Given the description of an element on the screen output the (x, y) to click on. 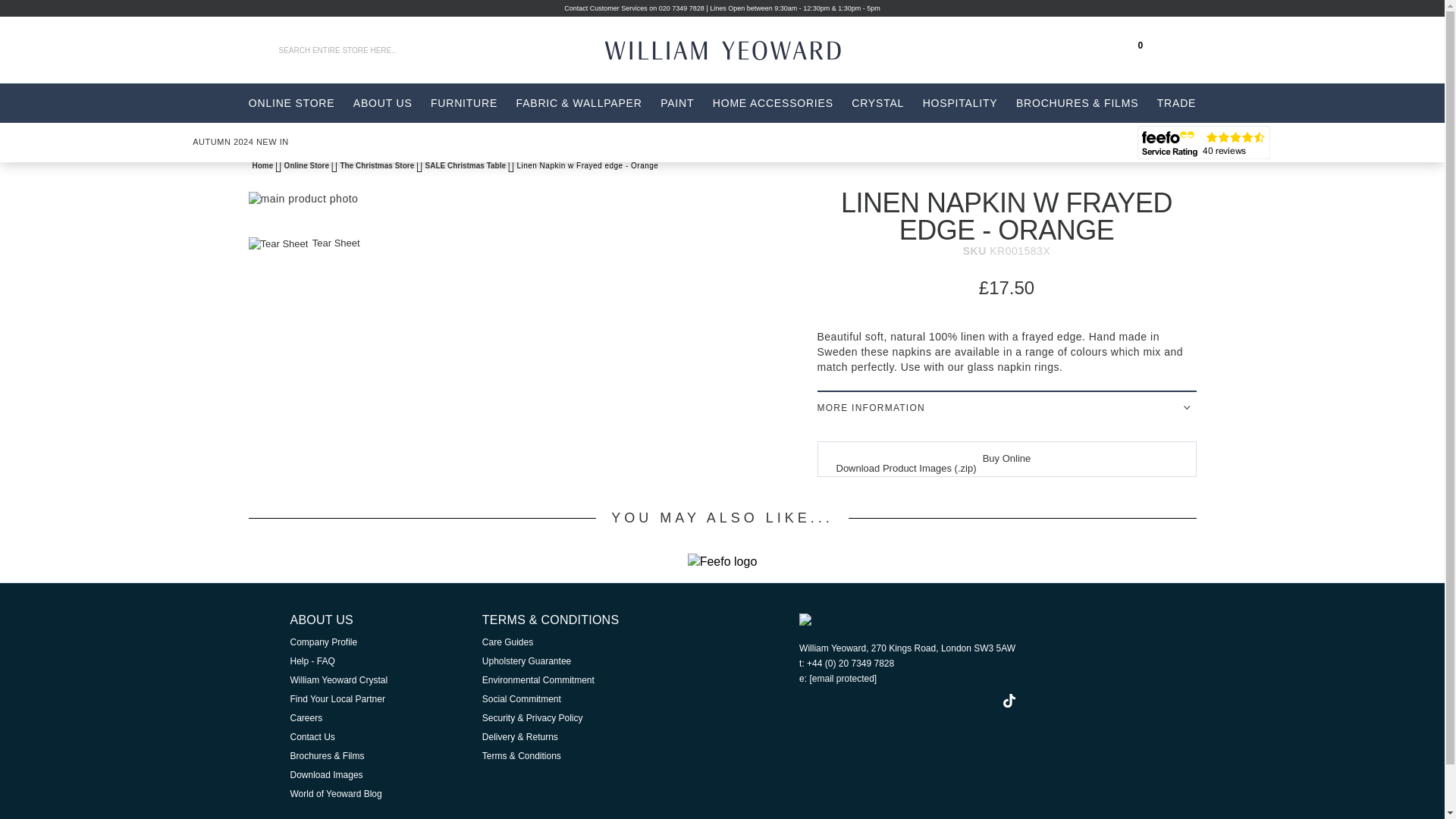
William Yeoward (740, 50)
William Yeoward (739, 50)
Go to Home Page (263, 165)
See what our customers say about us (1203, 142)
ONLINE STORE (291, 102)
020 7349 7828 (681, 8)
AUTUMN 2024 NEW IN (240, 141)
